Given the description of an element on the screen output the (x, y) to click on. 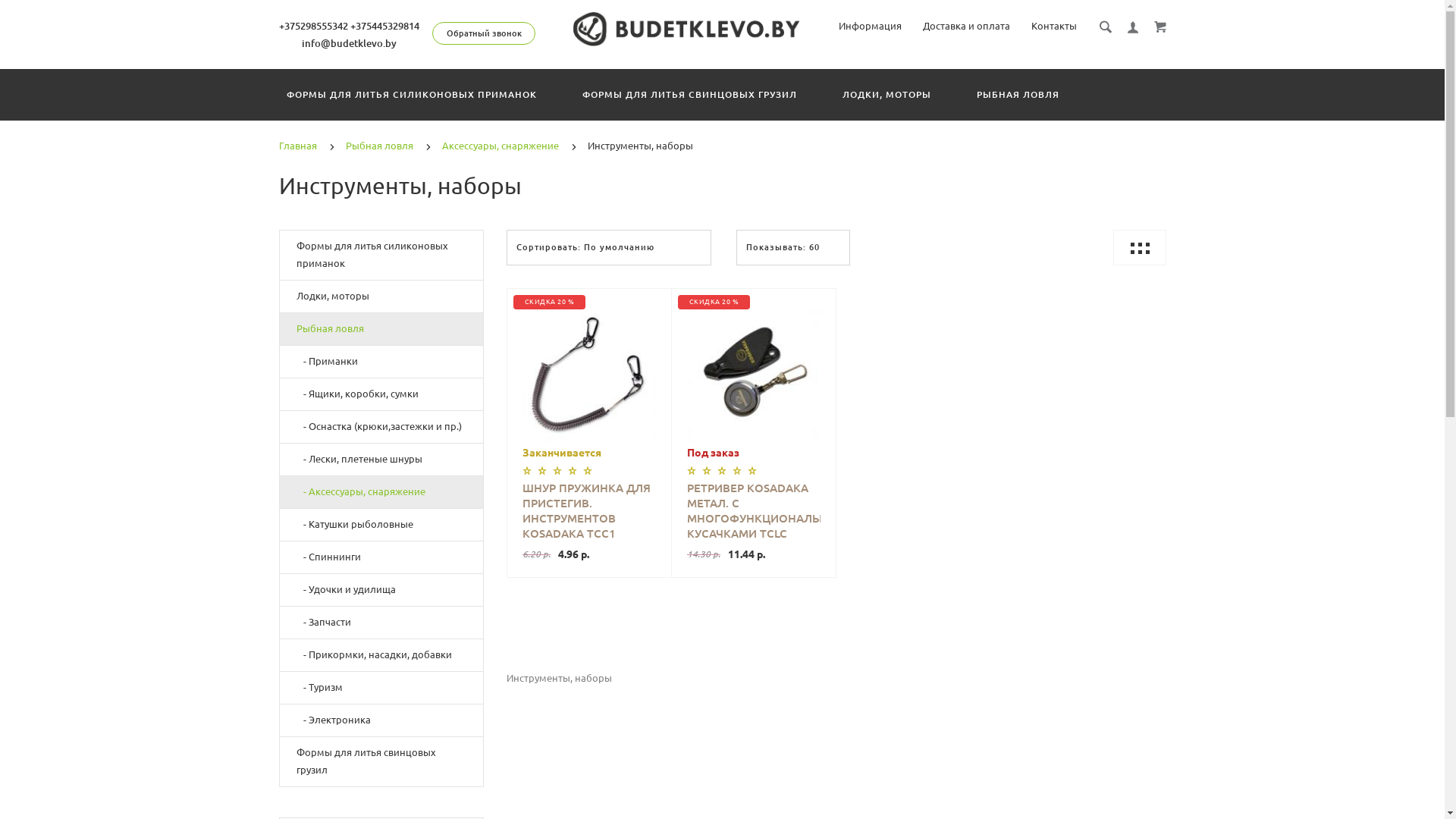
+375445329814 Element type: text (384, 25)
+375298555342 Element type: text (313, 25)
